Given the description of an element on the screen output the (x, y) to click on. 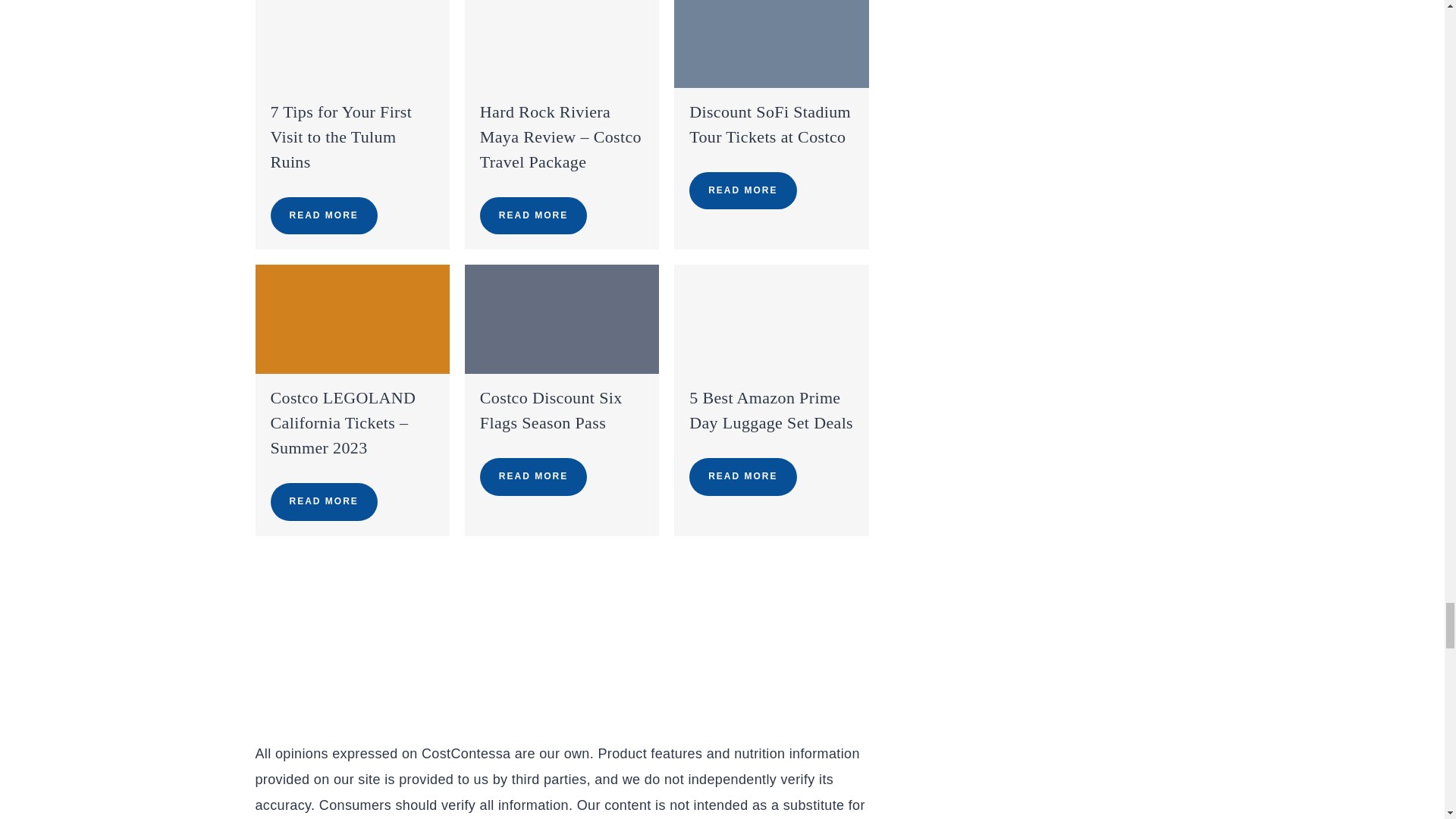
Costco Universal Studios Hollywood Tickets - 2023 8 (351, 318)
Costco Universal Studios Hollywood Tickets - 2023 6 (561, 43)
Costco Universal Studios Hollywood Tickets - 2023 10 (770, 318)
Costco Universal Studios Hollywood Tickets - 2023 7 (770, 43)
Costco Universal Studios Hollywood Tickets - 2023 5 (351, 43)
Costco Universal Studios Hollywood Tickets - 2023 9 (561, 318)
